Given the description of an element on the screen output the (x, y) to click on. 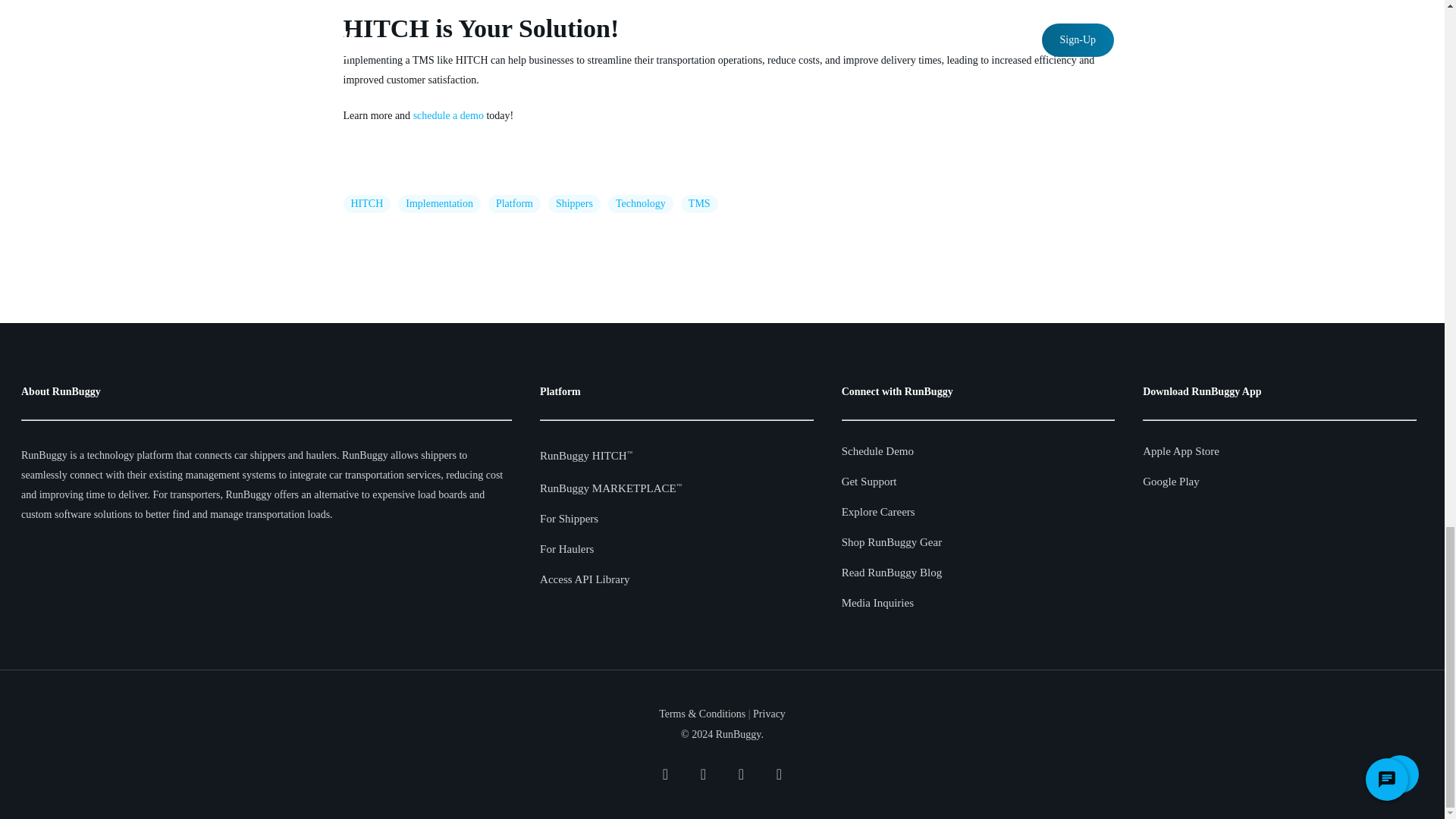
Technology (640, 203)
Platform (513, 203)
HITCH (366, 203)
TMS (699, 203)
Shippers (573, 203)
Implementation (438, 203)
schedule a demo (448, 115)
